Given the description of an element on the screen output the (x, y) to click on. 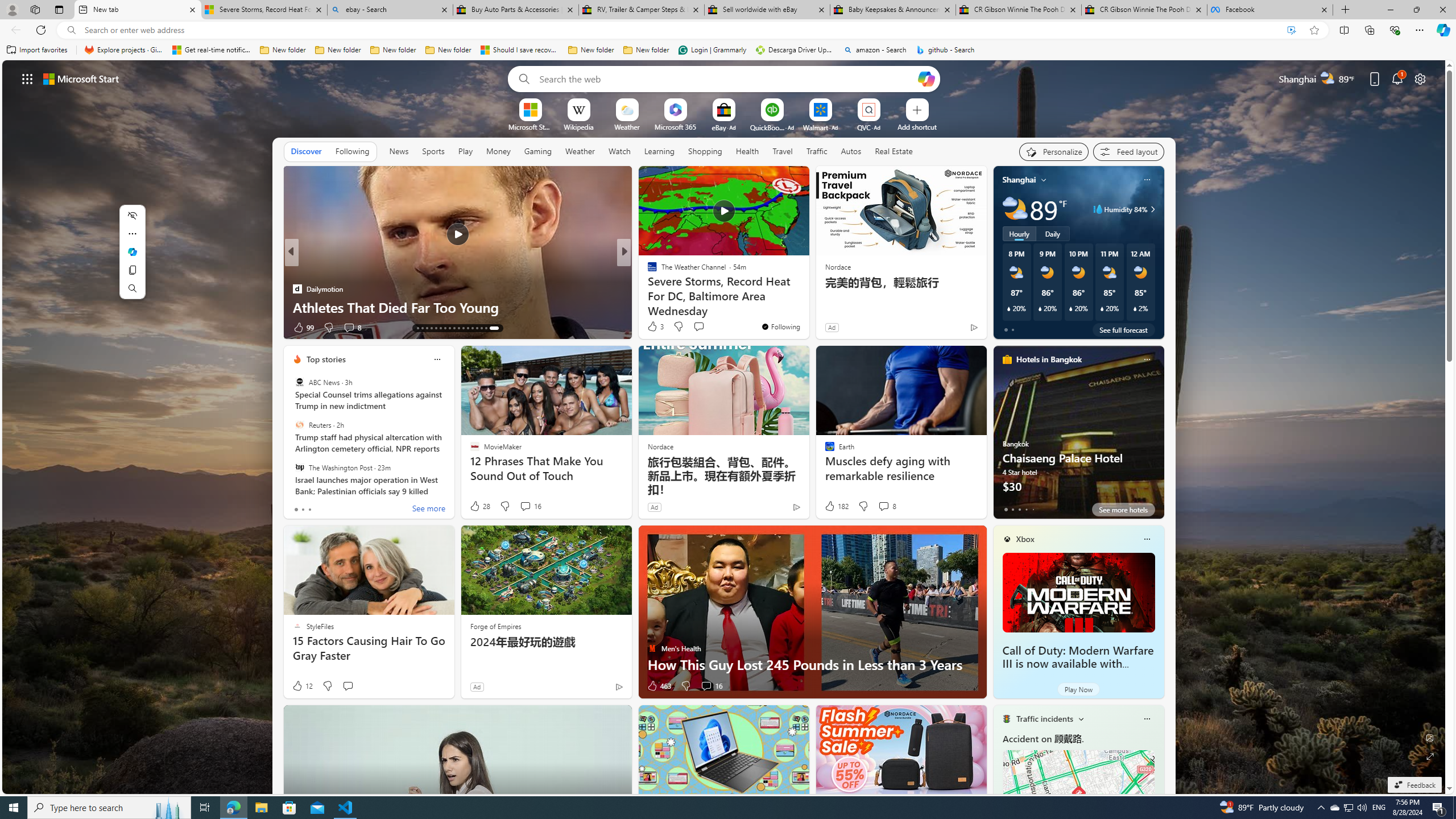
28 Like (479, 505)
AutomationID: tab-15 (433, 328)
Class: weather-arrow-glyph (1152, 208)
tab-4 (1032, 509)
Body Network (647, 270)
3 Like (655, 326)
Gaming (537, 151)
More Options (886, 101)
